Given the description of an element on the screen output the (x, y) to click on. 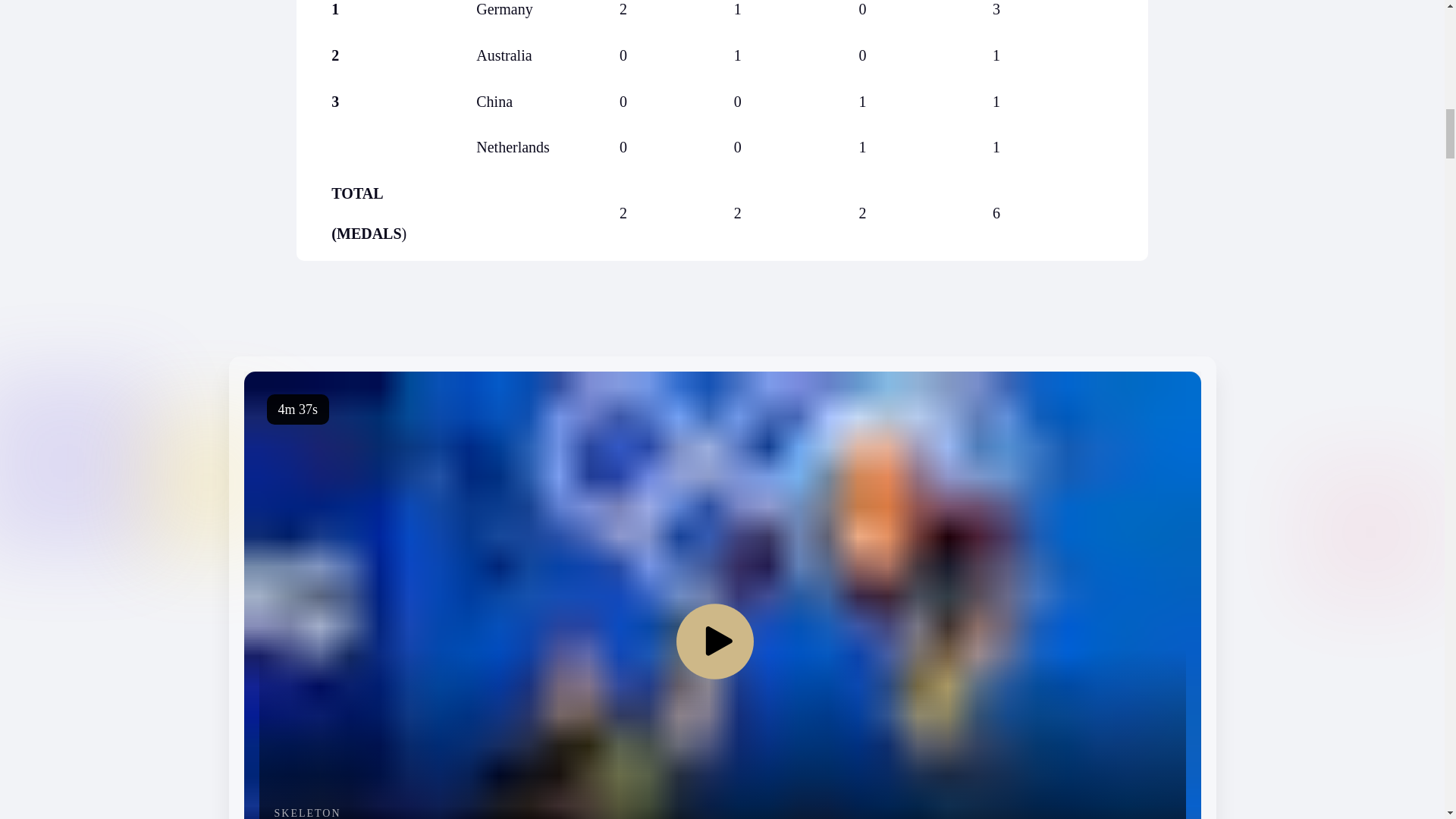
SKELETON (581, 812)
